Given the description of an element on the screen output the (x, y) to click on. 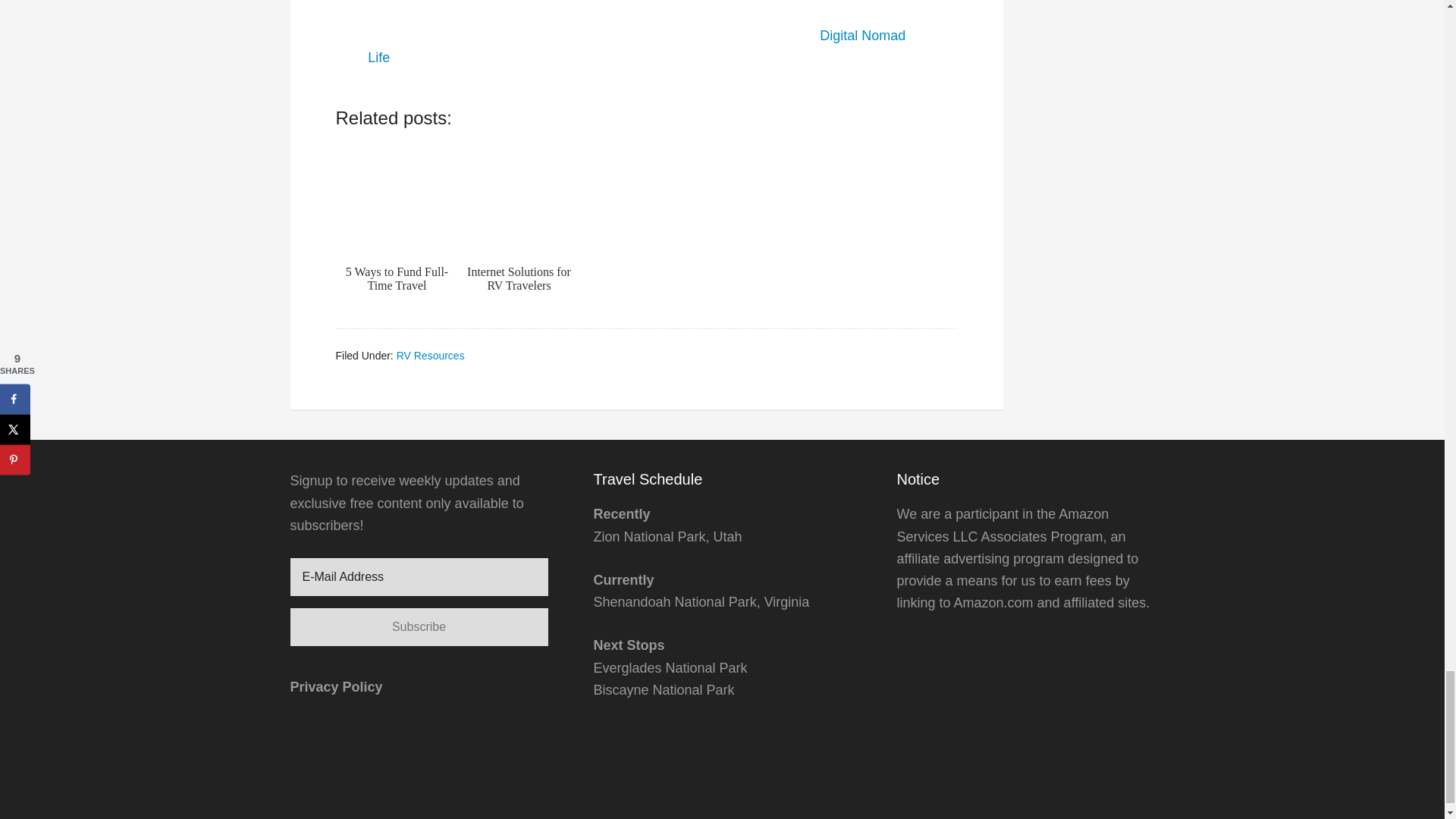
Subscribe (418, 627)
